Given the description of an element on the screen output the (x, y) to click on. 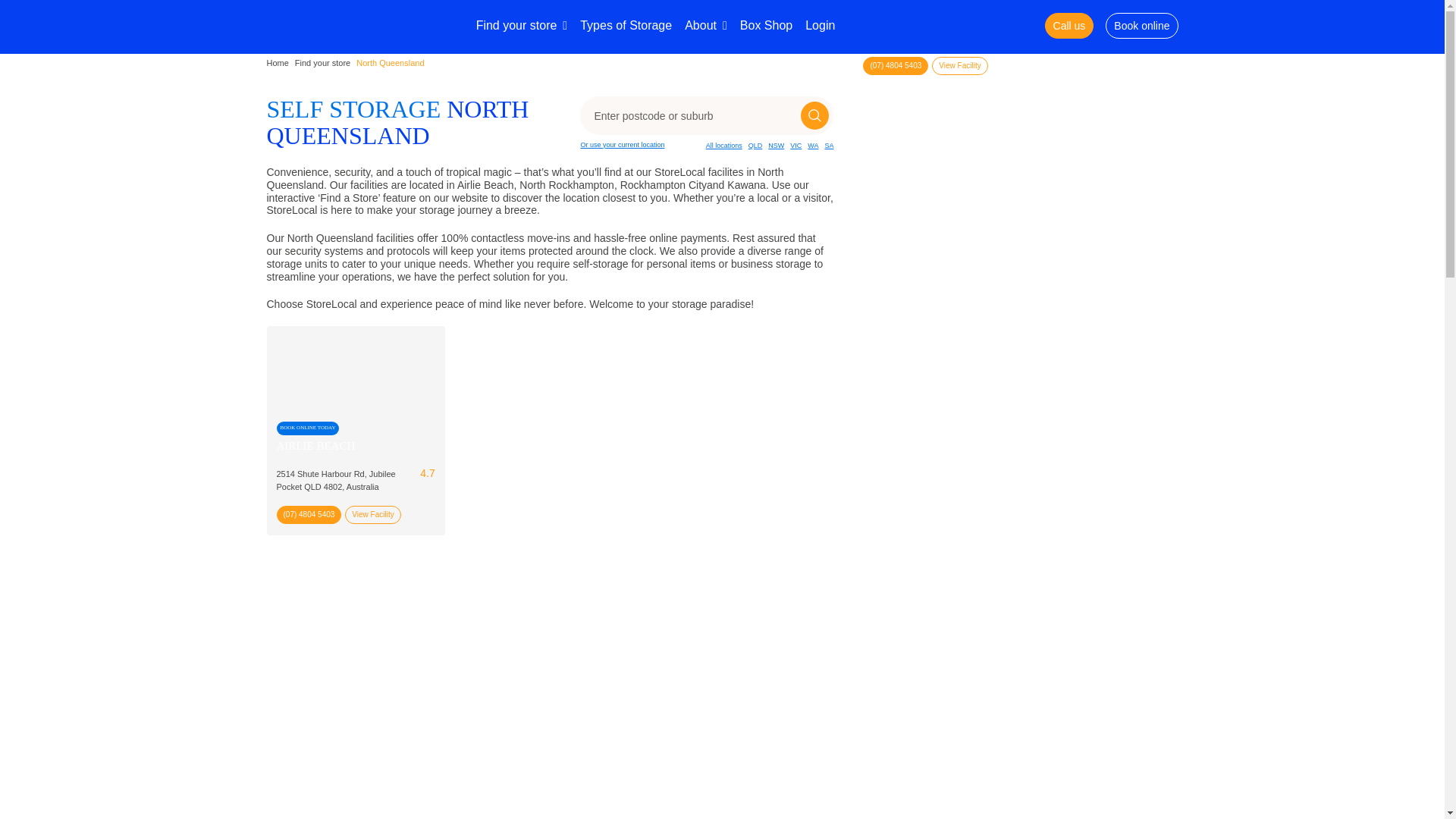
Types of Storage (625, 25)
Login (819, 25)
Book online (1141, 25)
Call us (1069, 25)
About (705, 25)
Find your store (521, 25)
Box Shop (765, 25)
